Given the description of an element on the screen output the (x, y) to click on. 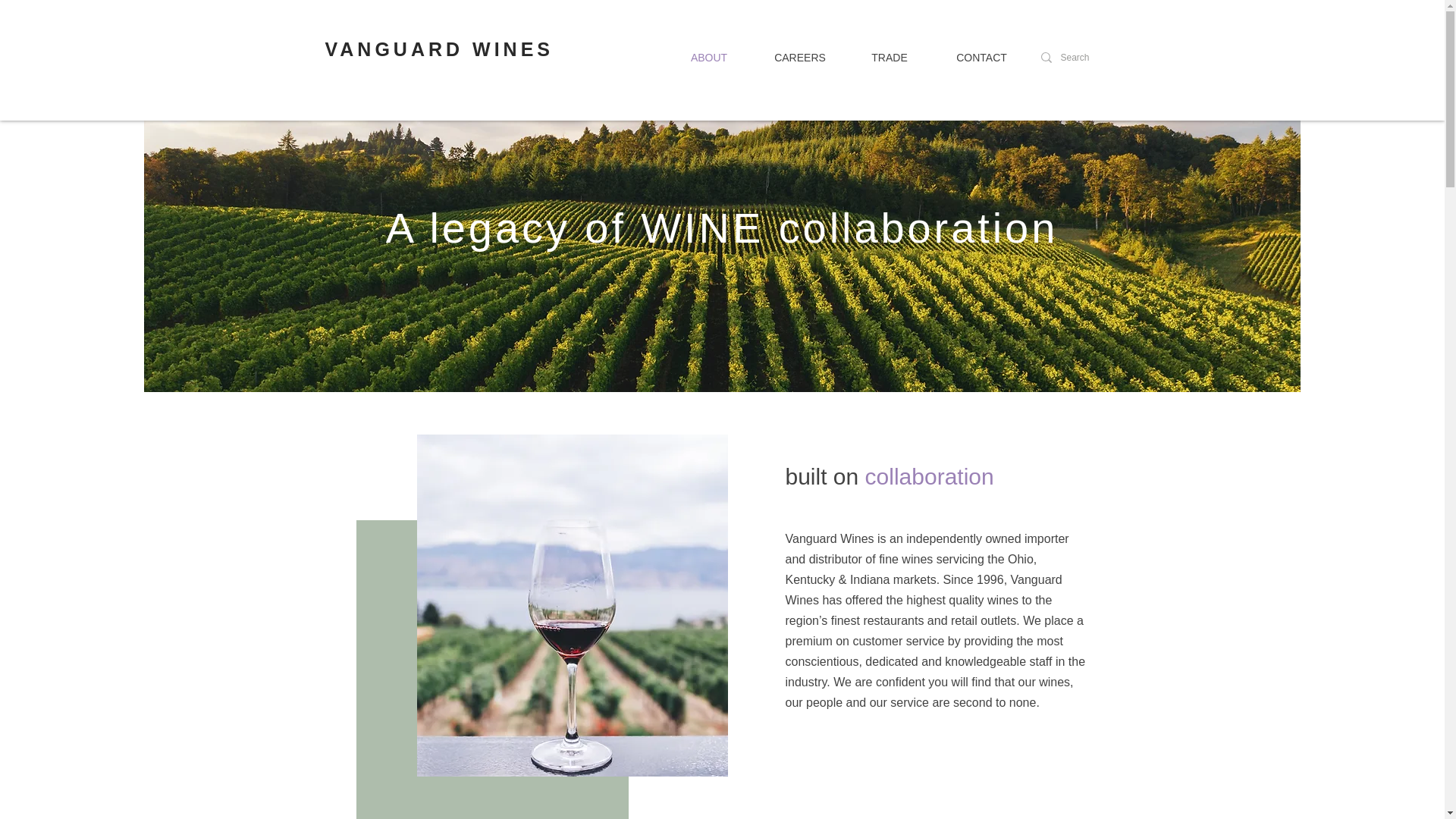
TRADE (888, 57)
VANGUARD WINES (438, 48)
CONTACT (981, 57)
CAREERS (800, 57)
ABOUT (708, 57)
